Given the description of an element on the screen output the (x, y) to click on. 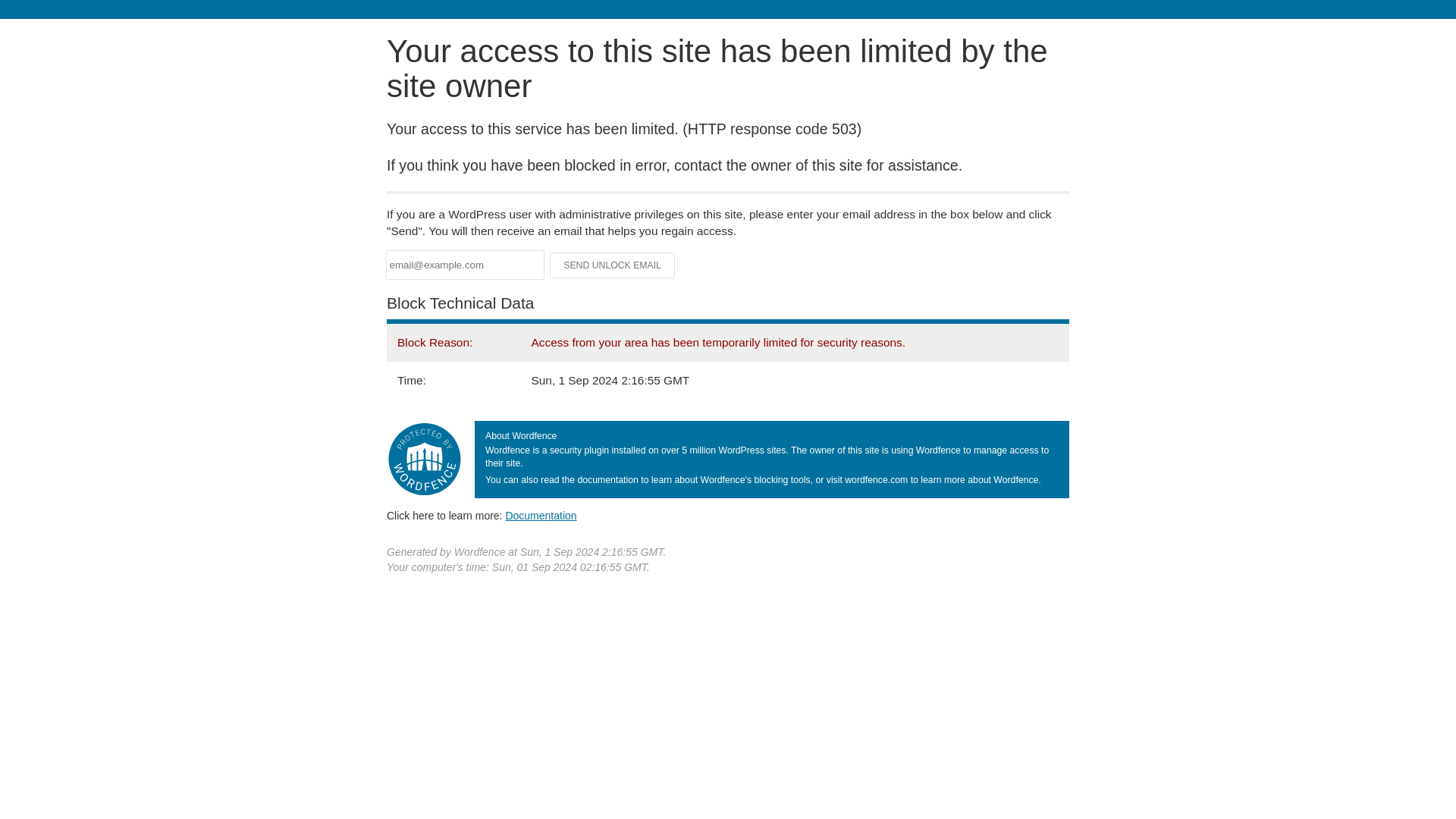
Send Unlock Email (612, 265)
Documentation (540, 515)
Send Unlock Email (612, 265)
